Given the description of an element on the screen output the (x, y) to click on. 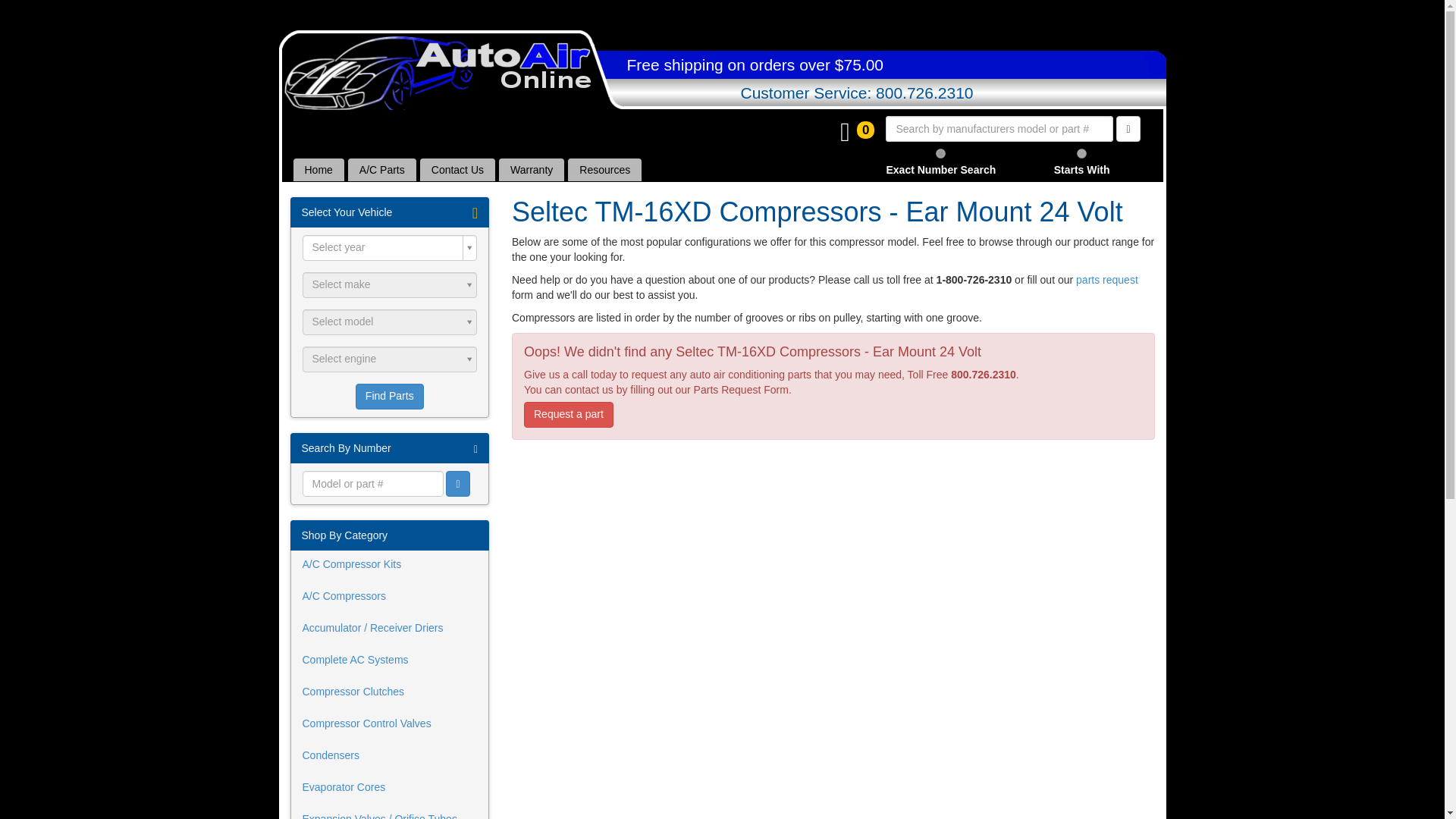
Compressor Clutches (390, 692)
Select model (389, 321)
Warranty (531, 169)
Automotive air conditioning complete ac systems (390, 660)
Request a part (568, 414)
Select make (389, 284)
Compressor Control Valves (390, 724)
starts-with (1081, 153)
Automotive air conditioning compressor control valves (390, 724)
Resources (604, 169)
Select engine (389, 359)
Find Parts (389, 396)
Search (456, 483)
Automotive air conditioning compressor clutches (390, 692)
Condensers (390, 756)
